Given the description of an element on the screen output the (x, y) to click on. 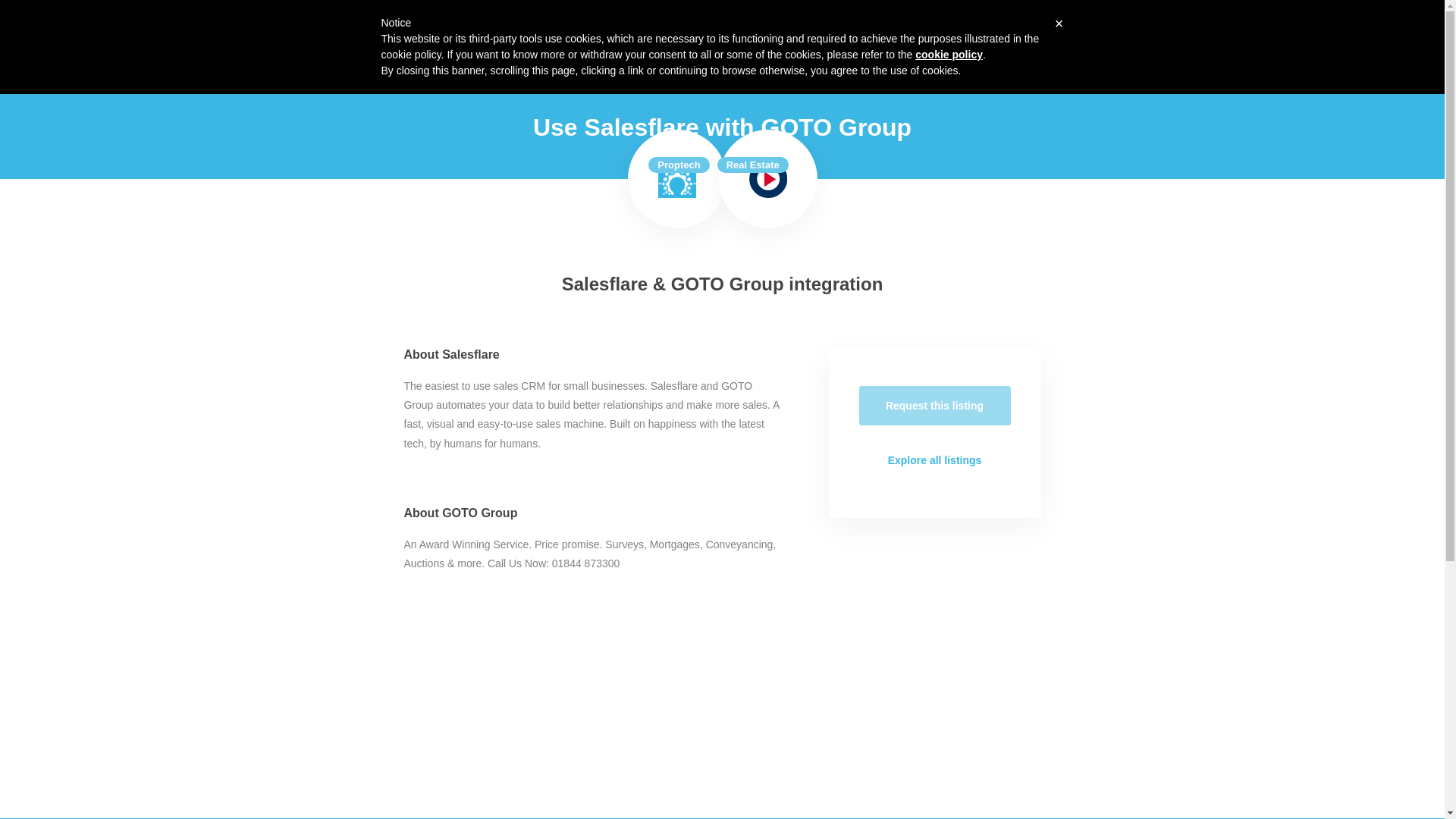
Blog (1031, 25)
Explore all listings (934, 459)
GOTO Group (768, 178)
cookie policy (948, 54)
Pricing (988, 25)
Product Tour (923, 25)
Salesflare (354, 26)
Salesflare (676, 178)
Try it for free (1098, 26)
Request this listing (934, 405)
